Given the description of an element on the screen output the (x, y) to click on. 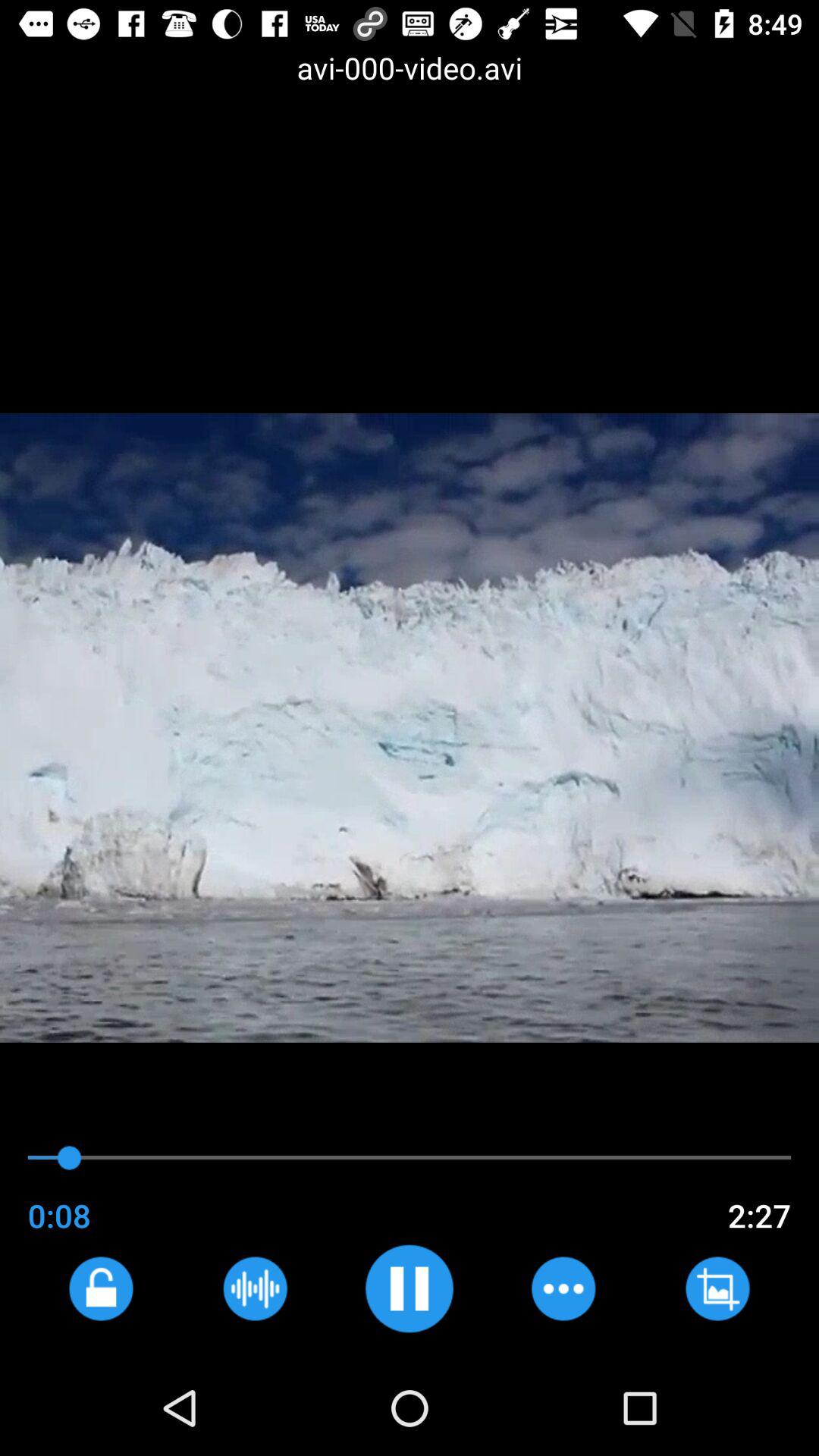
play on the music (409, 1288)
